Given the description of an element on the screen output the (x, y) to click on. 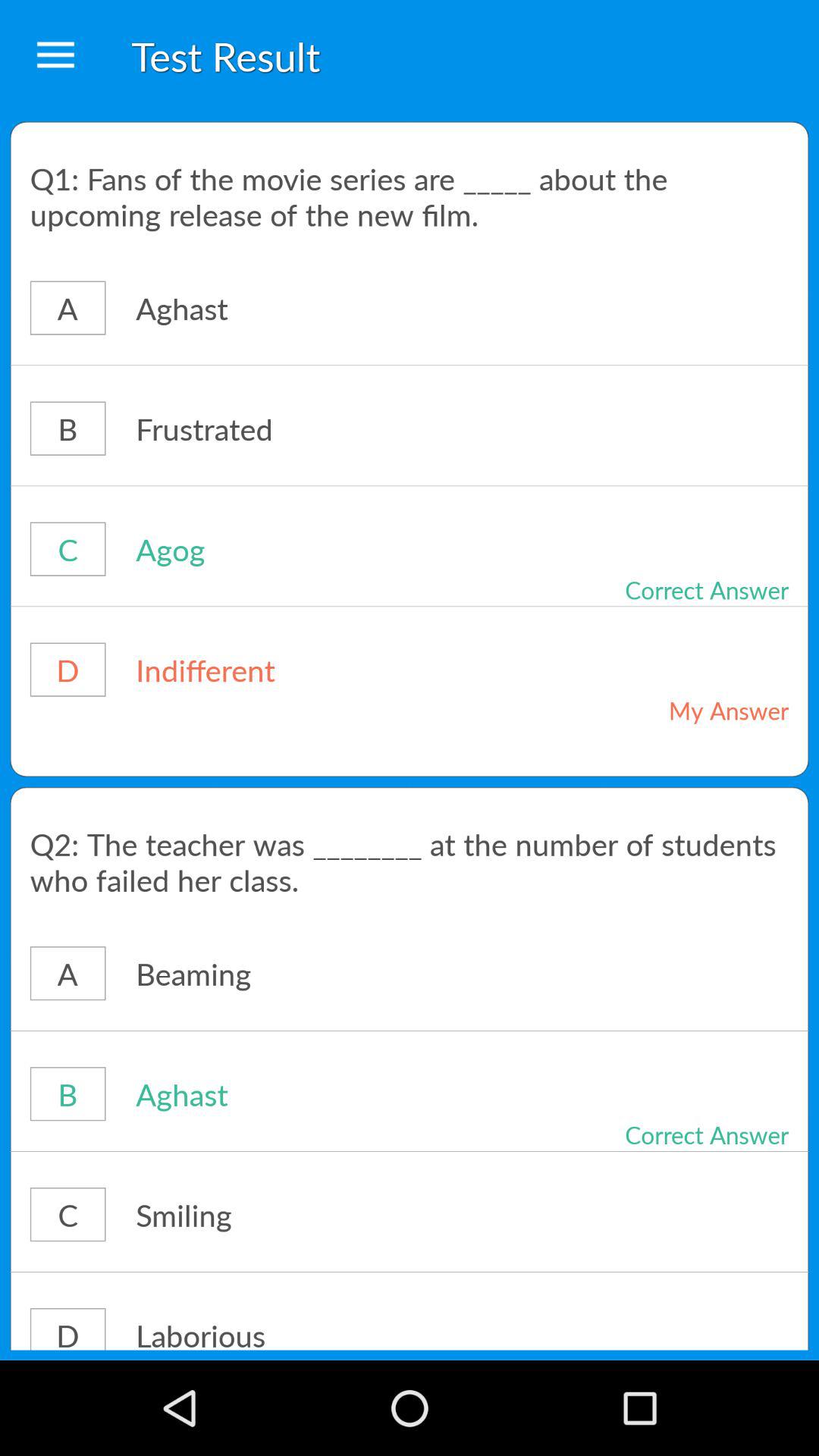
launch icon to the right of the d icon (313, 669)
